Given the description of an element on the screen output the (x, y) to click on. 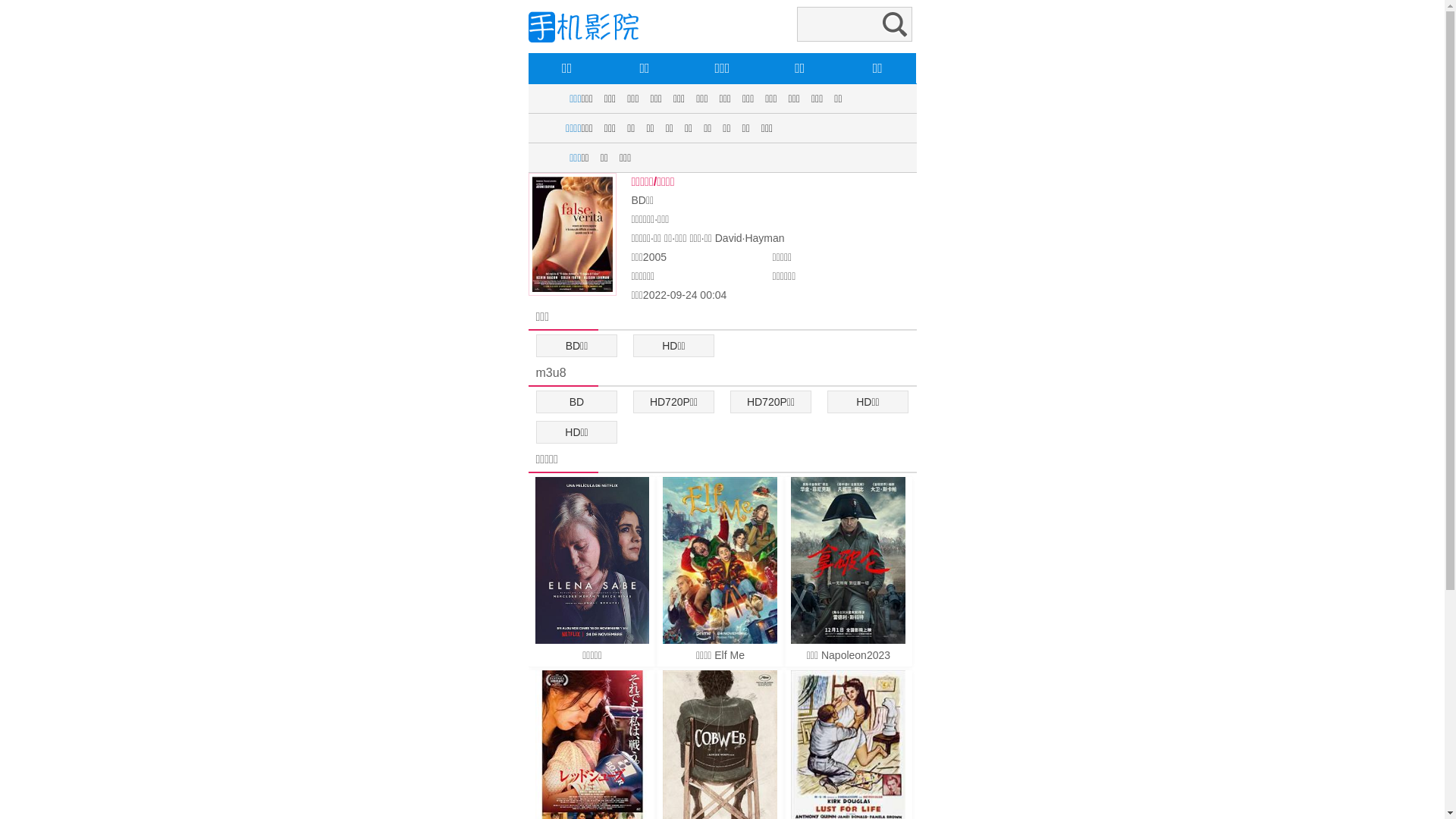
BD Element type: text (577, 401)
